Given the description of an element on the screen output the (x, y) to click on. 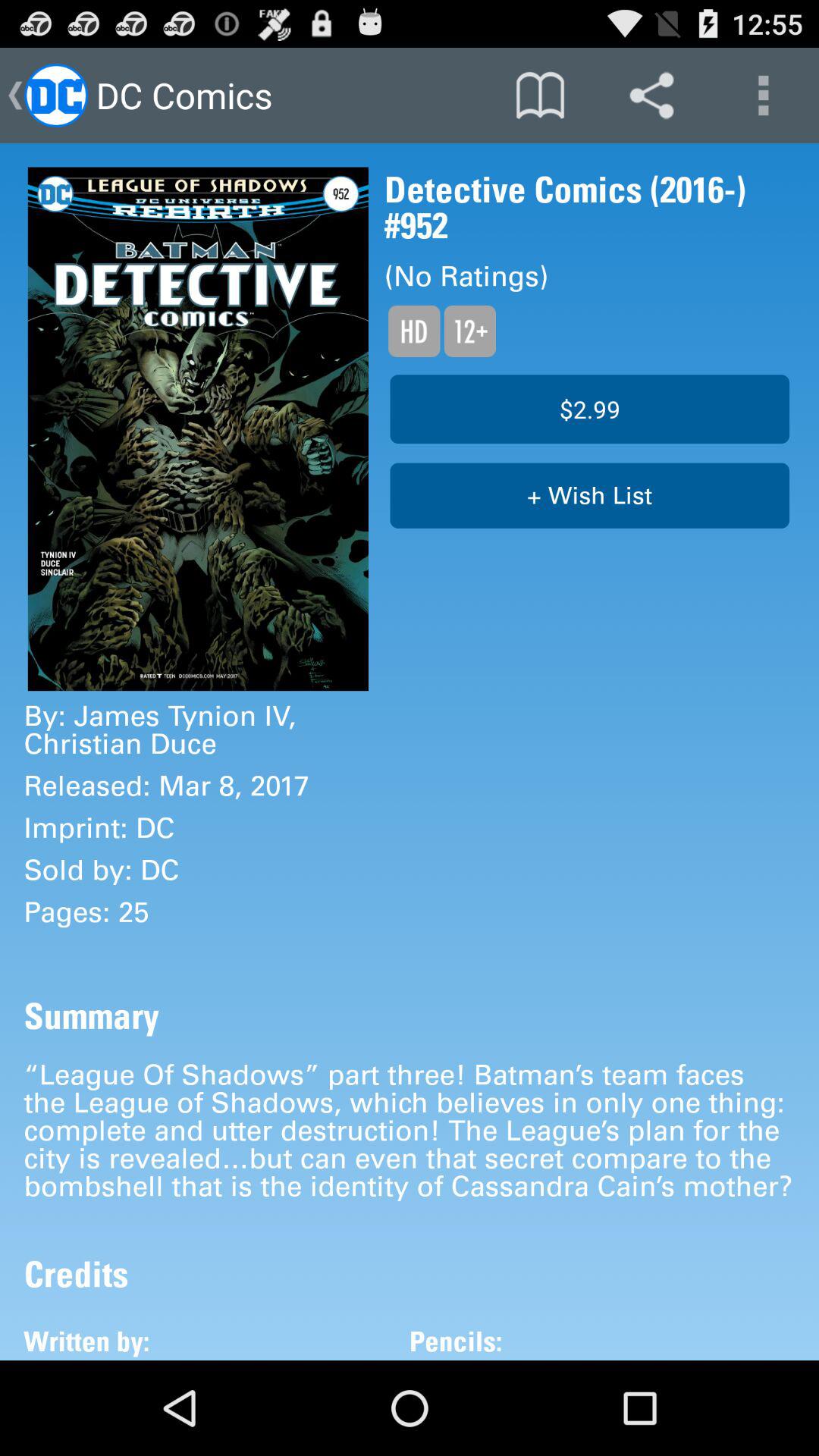
click icon to the left of detective comics 2016 icon (197, 429)
